Given the description of an element on the screen output the (x, y) to click on. 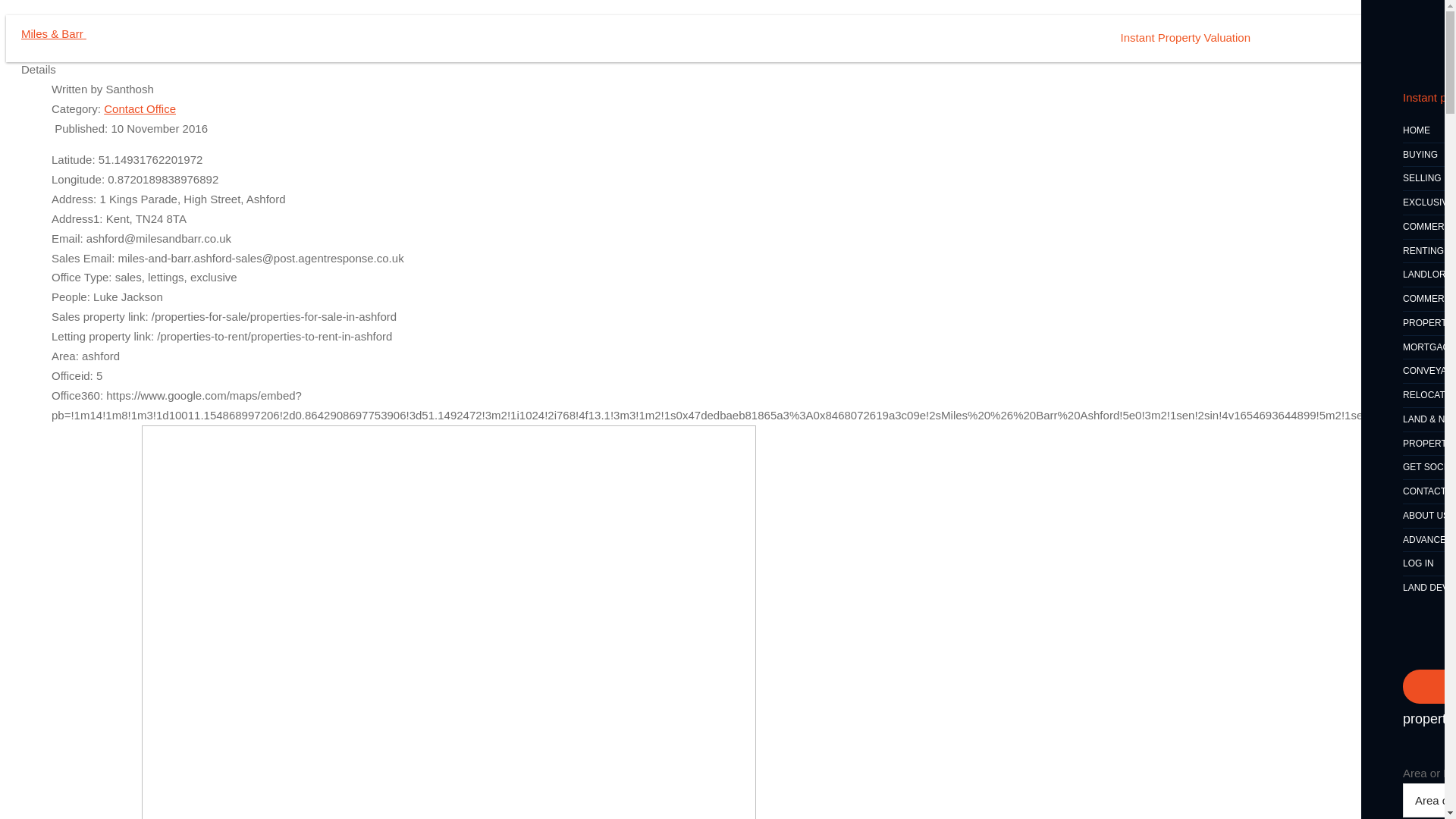
Show details (902, 789)
our 885 partners (388, 614)
details section (825, 765)
